Given the description of an element on the screen output the (x, y) to click on. 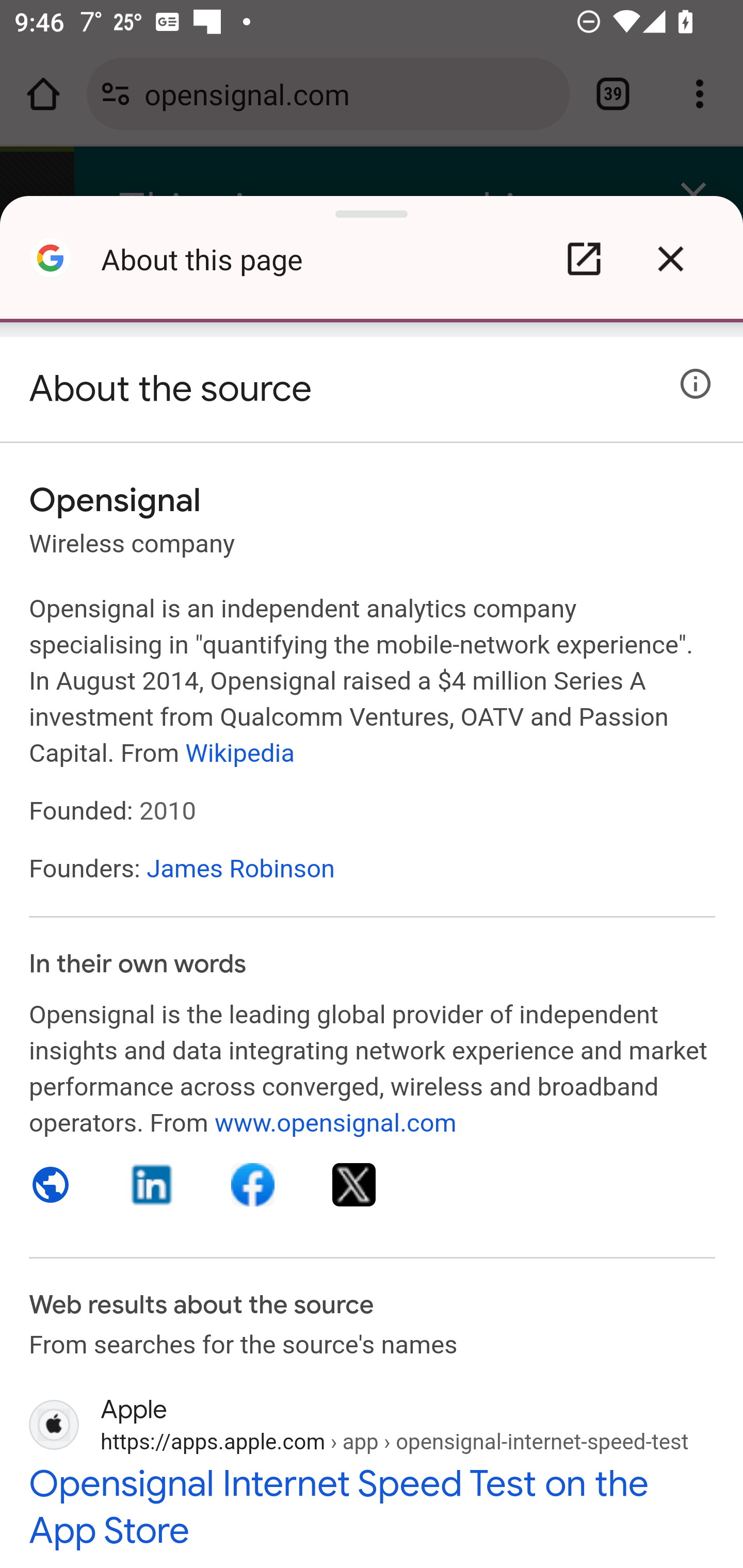
About this page Open in new tab Close 100.0 (371, 268)
Open in new tab (583, 259)
Close (670, 259)
Support about the source (695, 384)
Wikipedia (240, 752)
James Robinson (240, 867)
www.opensignal.com (334, 1122)
Official site, Opensignal (51, 1184)
linkedin.com, Opensignal (152, 1184)
facebook.com, Opensignal (252, 1184)
twitter.com, Opensignal (354, 1184)
